Given the description of an element on the screen output the (x, y) to click on. 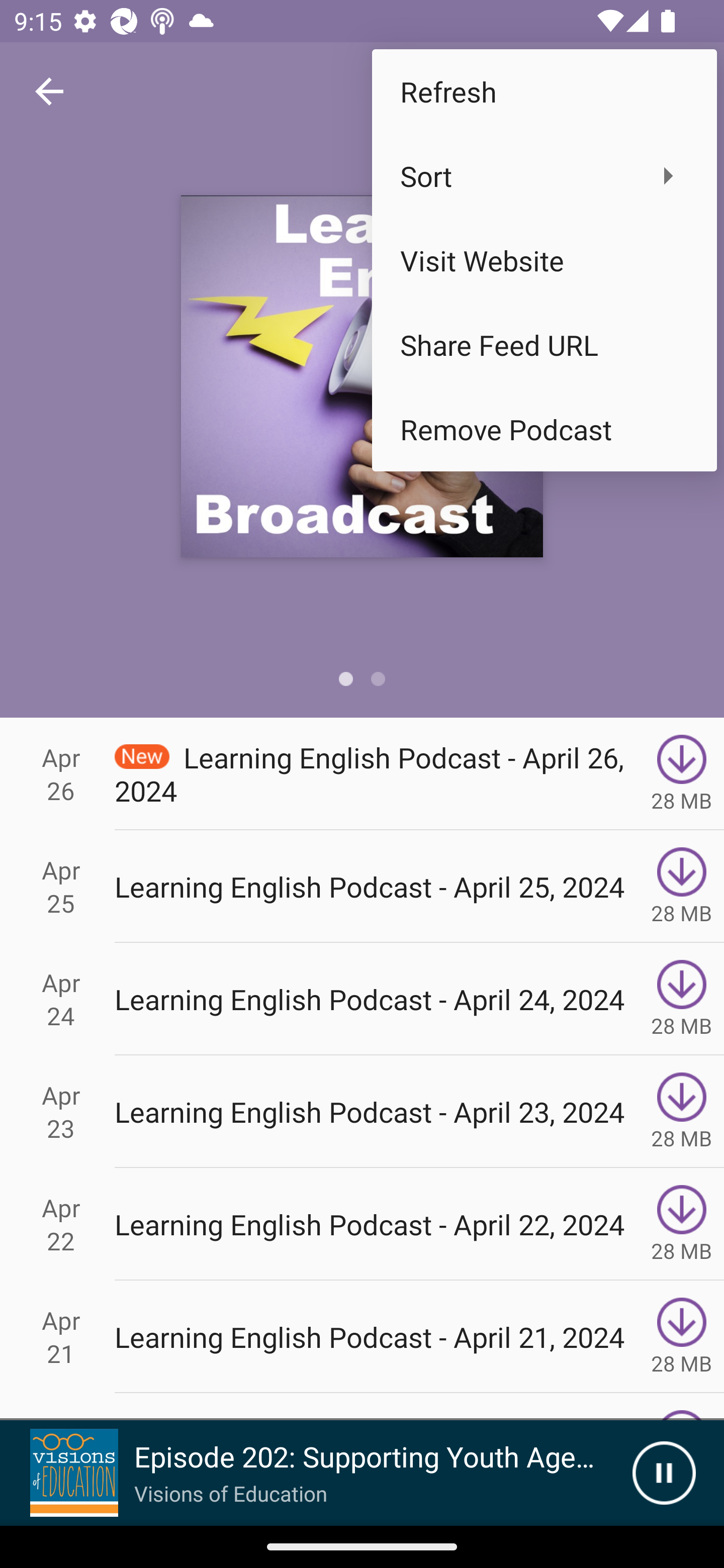
Refresh (544, 90)
Sort (544, 175)
Visit Website (544, 259)
Share Feed URL (544, 344)
Remove Podcast (544, 429)
